Given the description of an element on the screen output the (x, y) to click on. 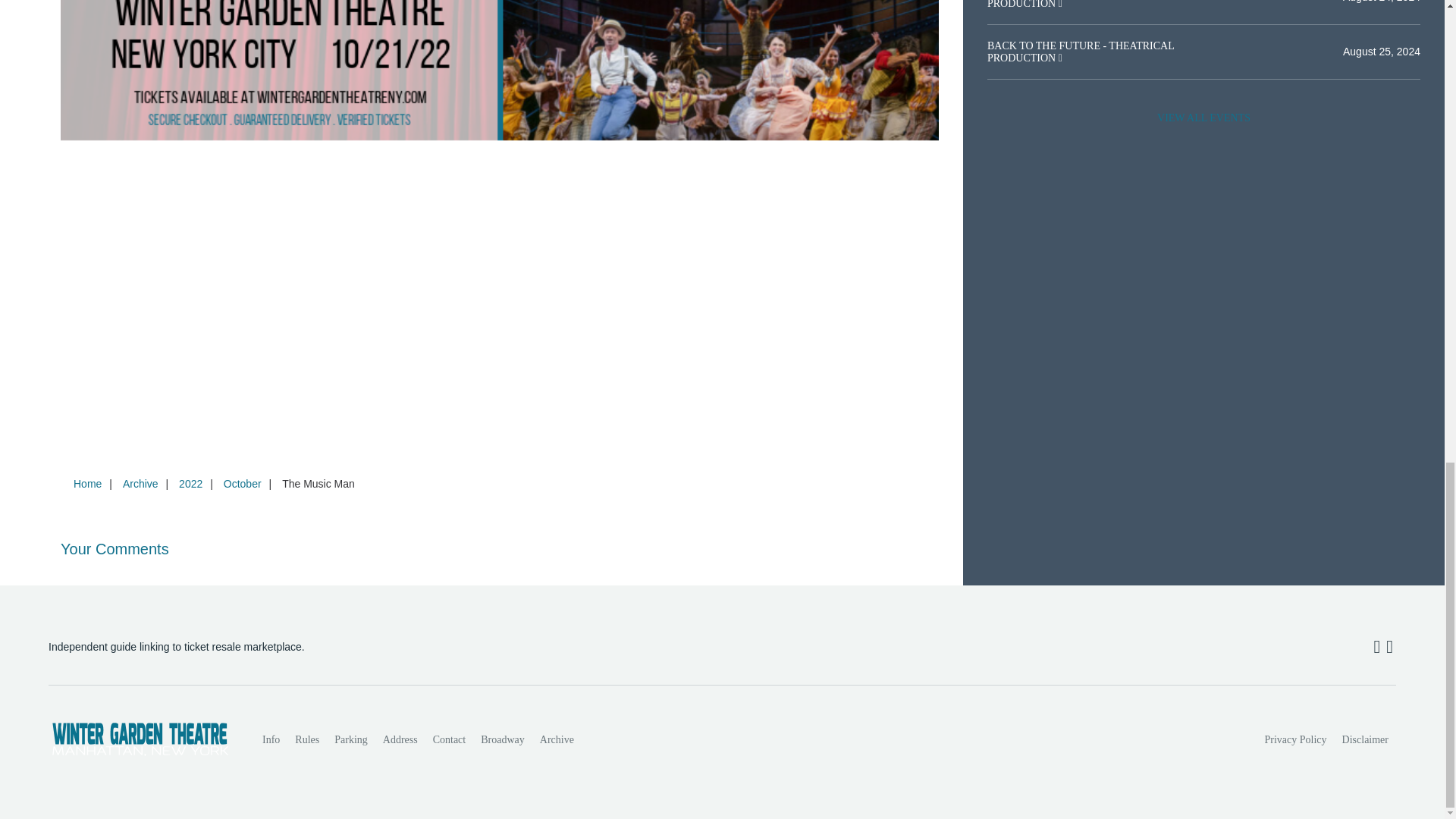
Parking (350, 739)
VIEW ALL EVENTS (1203, 118)
Archive (556, 739)
Home (87, 483)
October (242, 483)
Privacy Policy (1296, 739)
Info (270, 739)
2022 (190, 483)
The Music Man at Winter Garden Theatre tickets (500, 76)
Contact (449, 739)
